Given the description of an element on the screen output the (x, y) to click on. 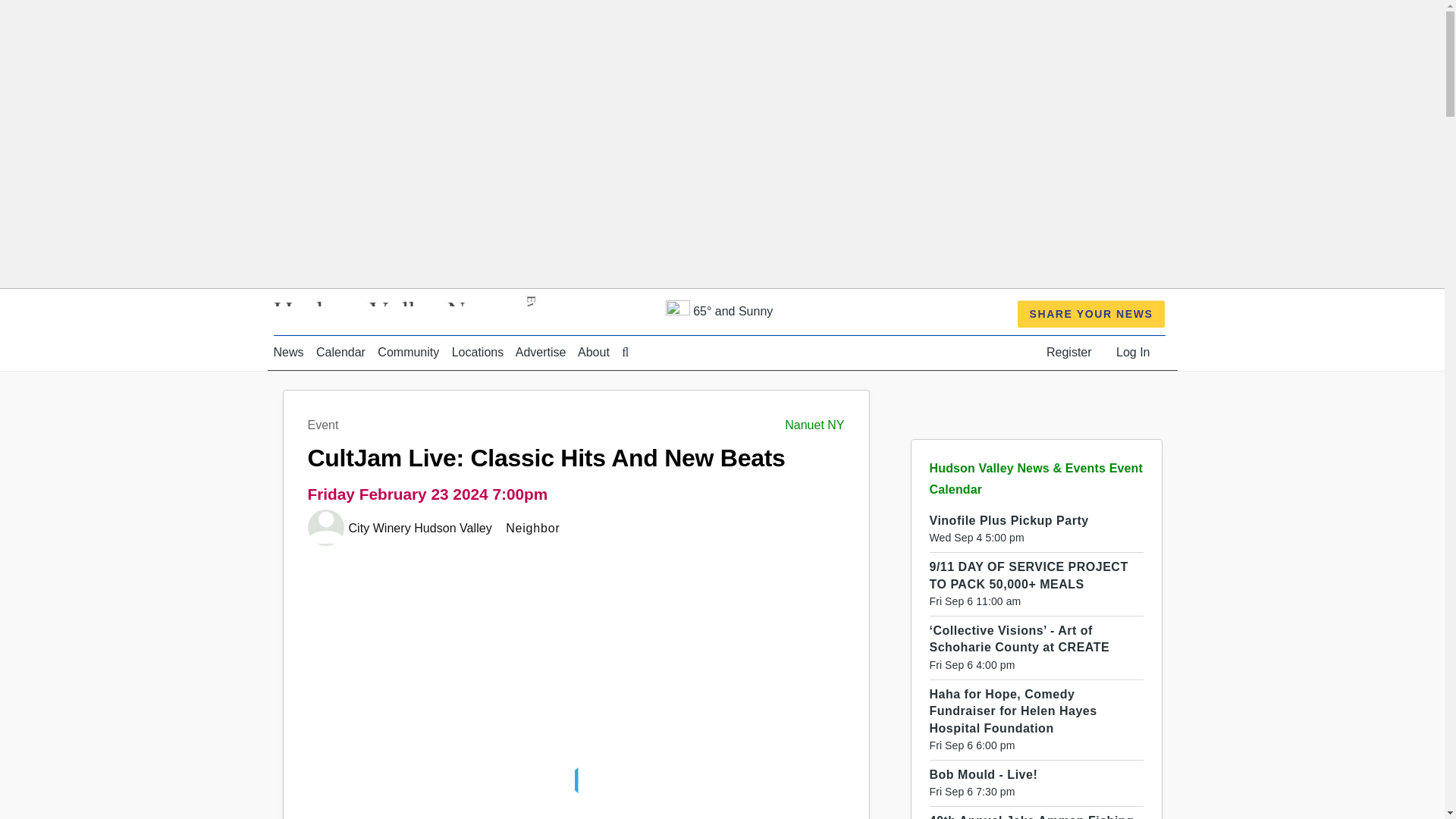
Community (408, 351)
Advertise (540, 351)
Nanuet NY weather (719, 310)
Register (1069, 351)
City Winery Hudson Valley (422, 527)
News (287, 351)
SHARE YOUR NEWS (1091, 313)
SHARE YOUR NEWS (1091, 313)
Calendar (340, 351)
About (594, 351)
